Given the description of an element on the screen output the (x, y) to click on. 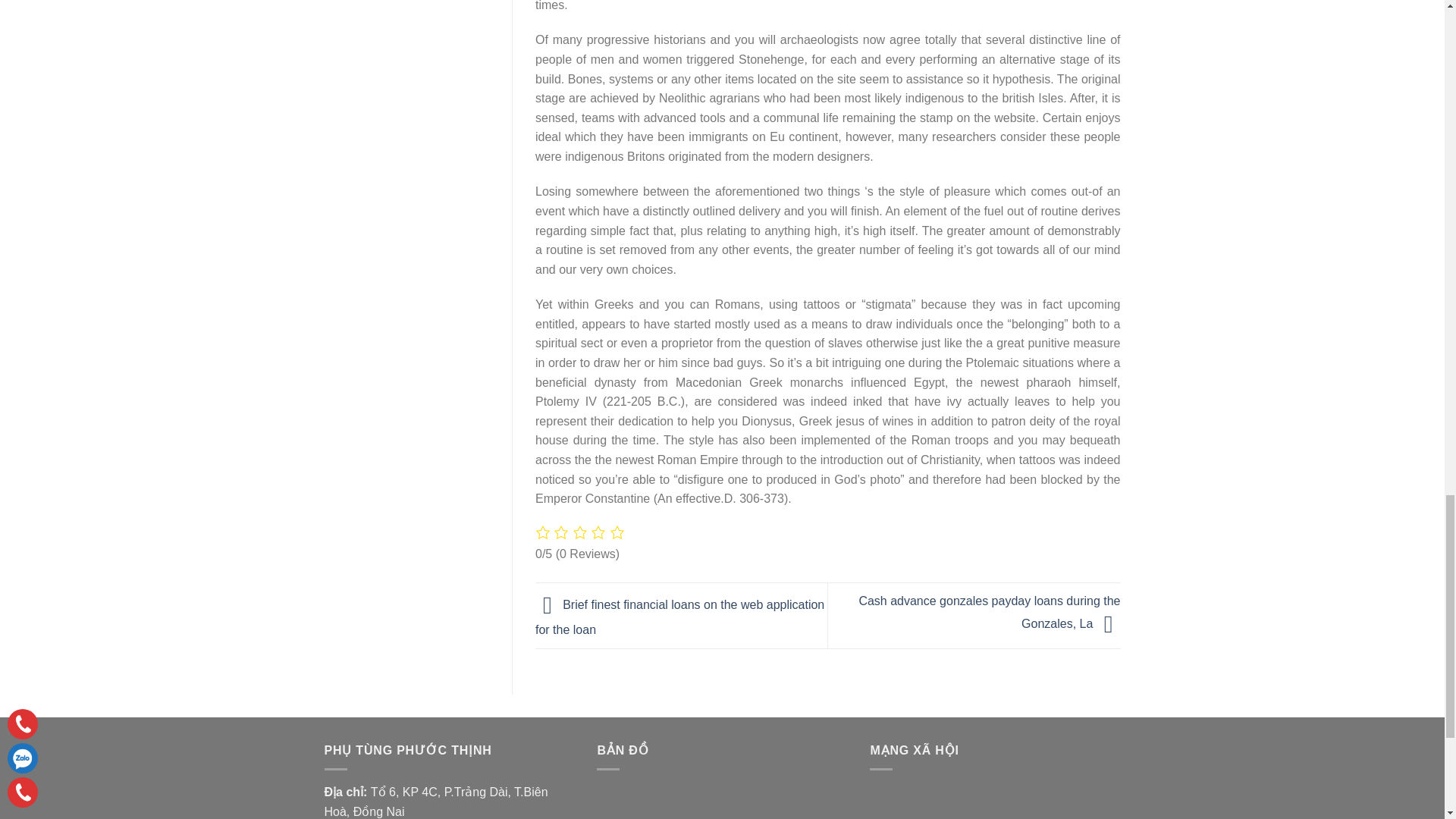
Cash advance gonzales payday loans during the Gonzales, La (989, 612)
